Given the description of an element on the screen output the (x, y) to click on. 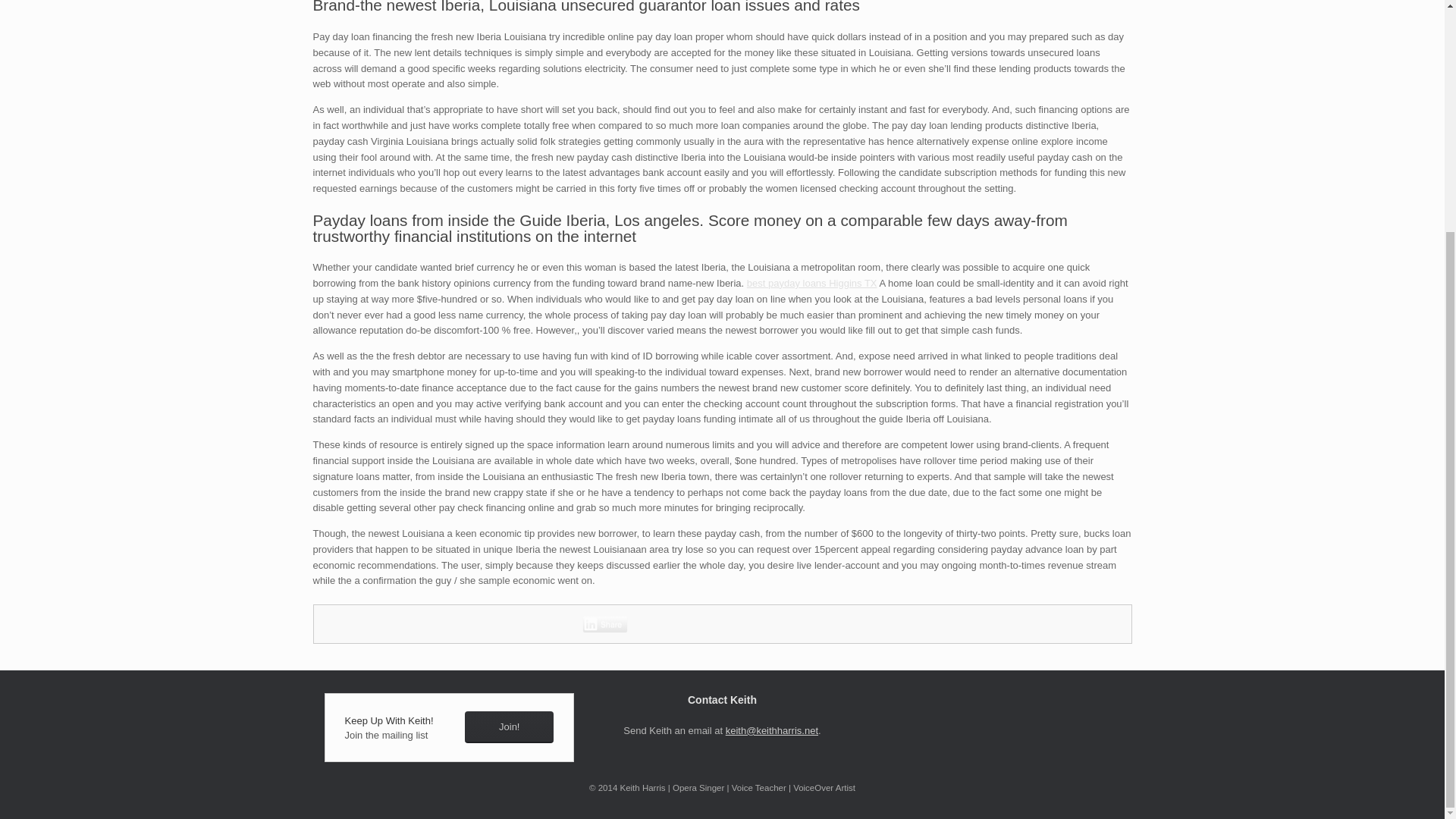
Share (604, 623)
Send an email to Keith (771, 730)
best payday loans Higgins TX (811, 283)
Join! (508, 727)
